Given the description of an element on the screen output the (x, y) to click on. 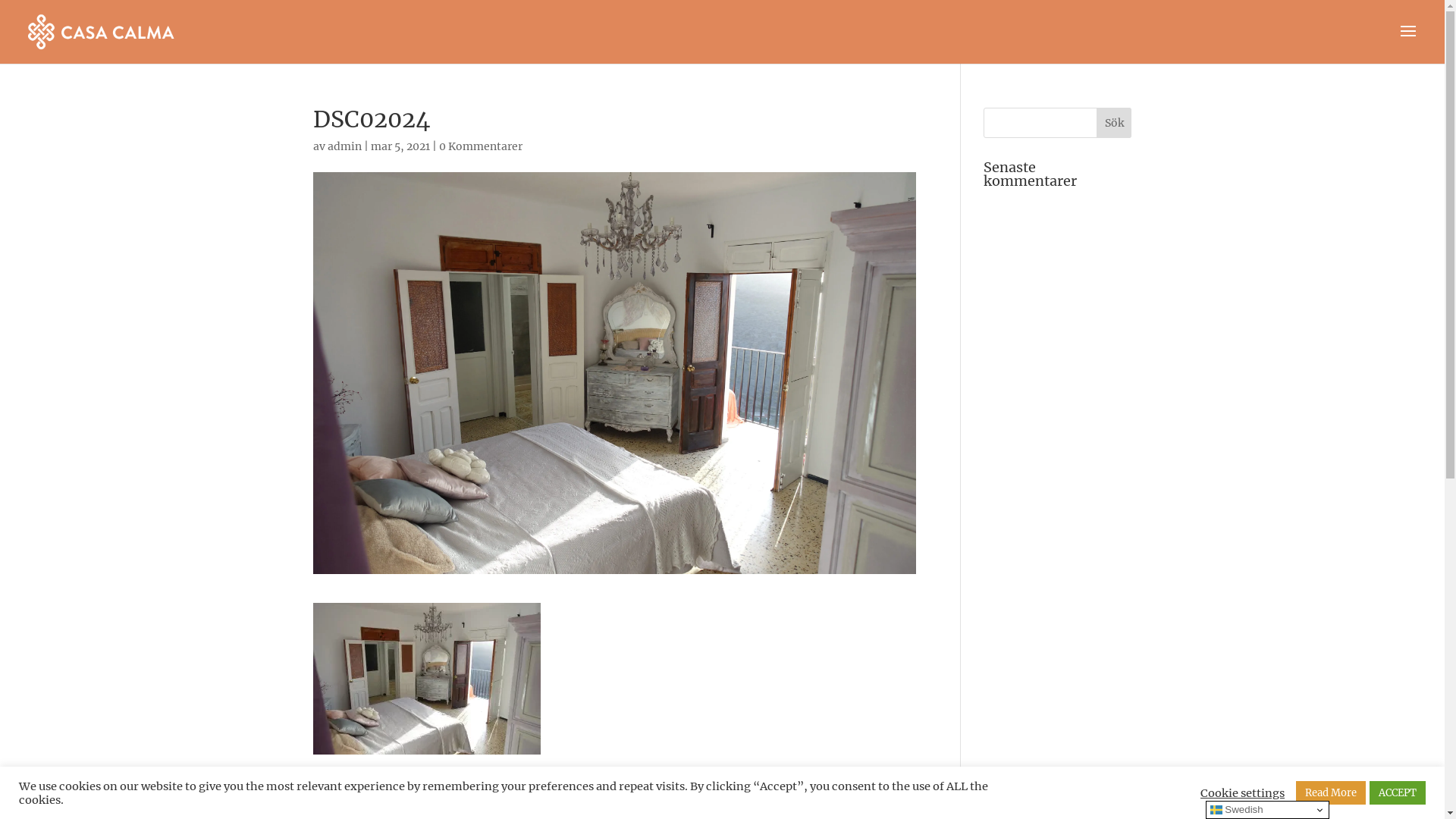
0 Kommentarer Element type: text (479, 146)
Cookie settings Element type: text (1242, 792)
ACCEPT Element type: text (1397, 792)
admin Element type: text (344, 146)
Read More Element type: text (1330, 792)
